Given the description of an element on the screen output the (x, y) to click on. 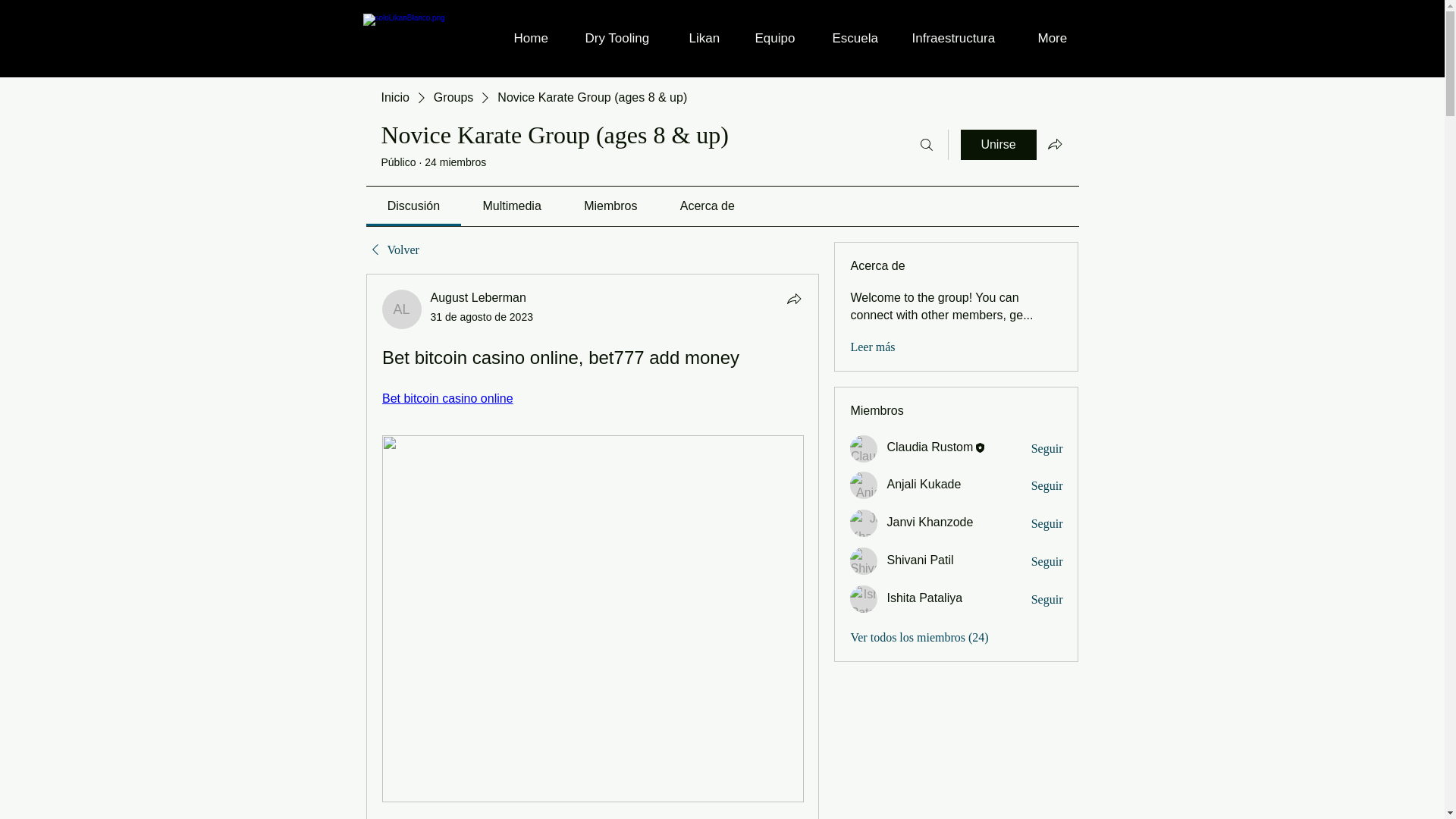
Dry Tooling (625, 38)
Seguir (1046, 561)
Groups (453, 97)
Claudia Rustom (929, 446)
Unirse (997, 144)
August Leberman (477, 297)
31 de agosto de 2023 (481, 316)
Seguir (1046, 485)
Volver (392, 249)
Inicio (394, 97)
Likan (711, 38)
Claudia Rustom (863, 448)
Seguir (1046, 448)
August Leberman (401, 309)
Ishita Pataliya (863, 598)
